Given the description of an element on the screen output the (x, y) to click on. 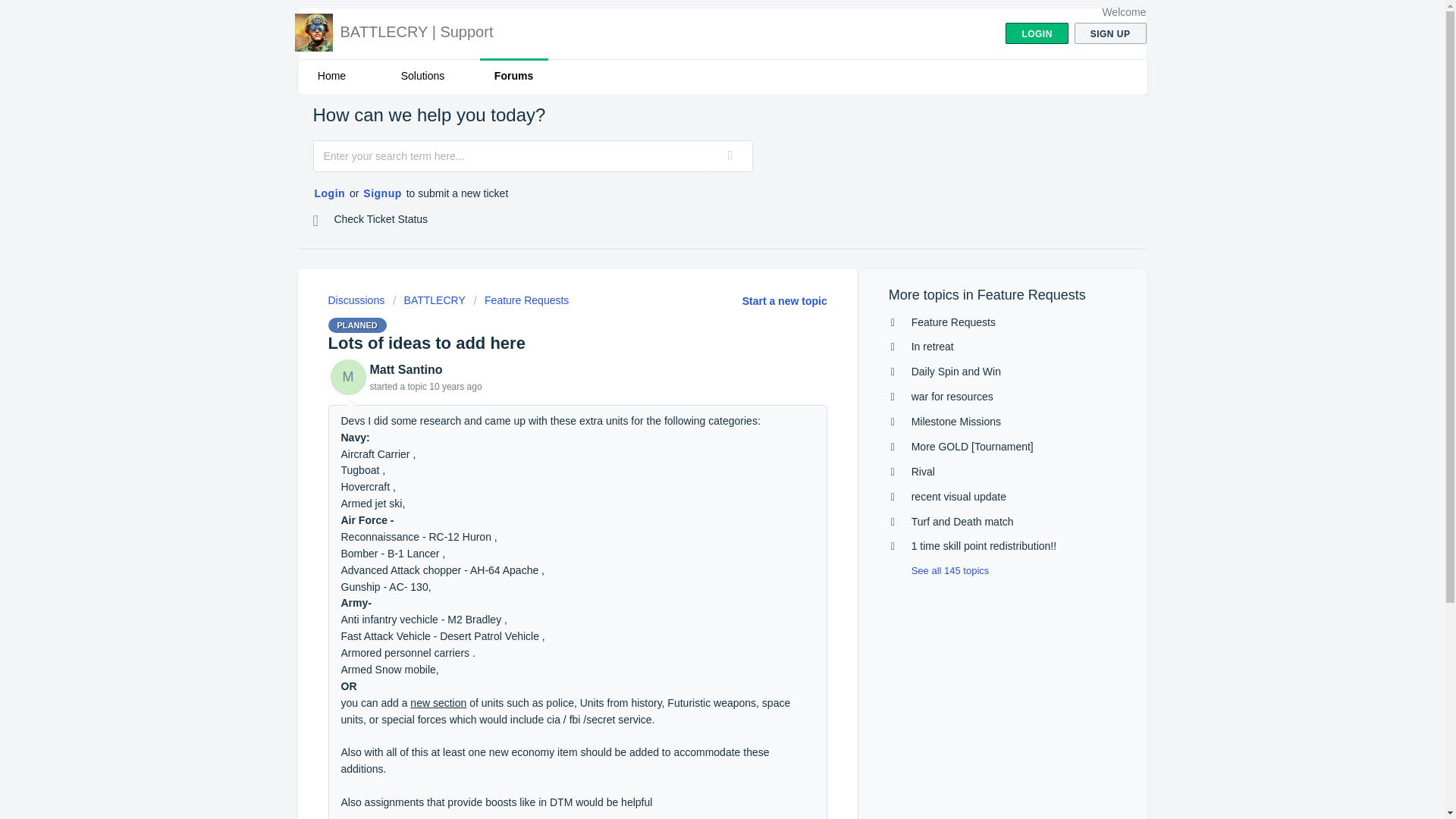
war for resources (951, 396)
Login (329, 193)
Start a new topic (784, 300)
See all 145 topics (939, 570)
Daily Spin and Win (956, 371)
Sat, 22 Nov, 2014 at  2:22 AM (455, 386)
recent visual update (958, 496)
Milestone Missions (956, 421)
Signup (381, 193)
Home (331, 76)
